Given the description of an element on the screen output the (x, y) to click on. 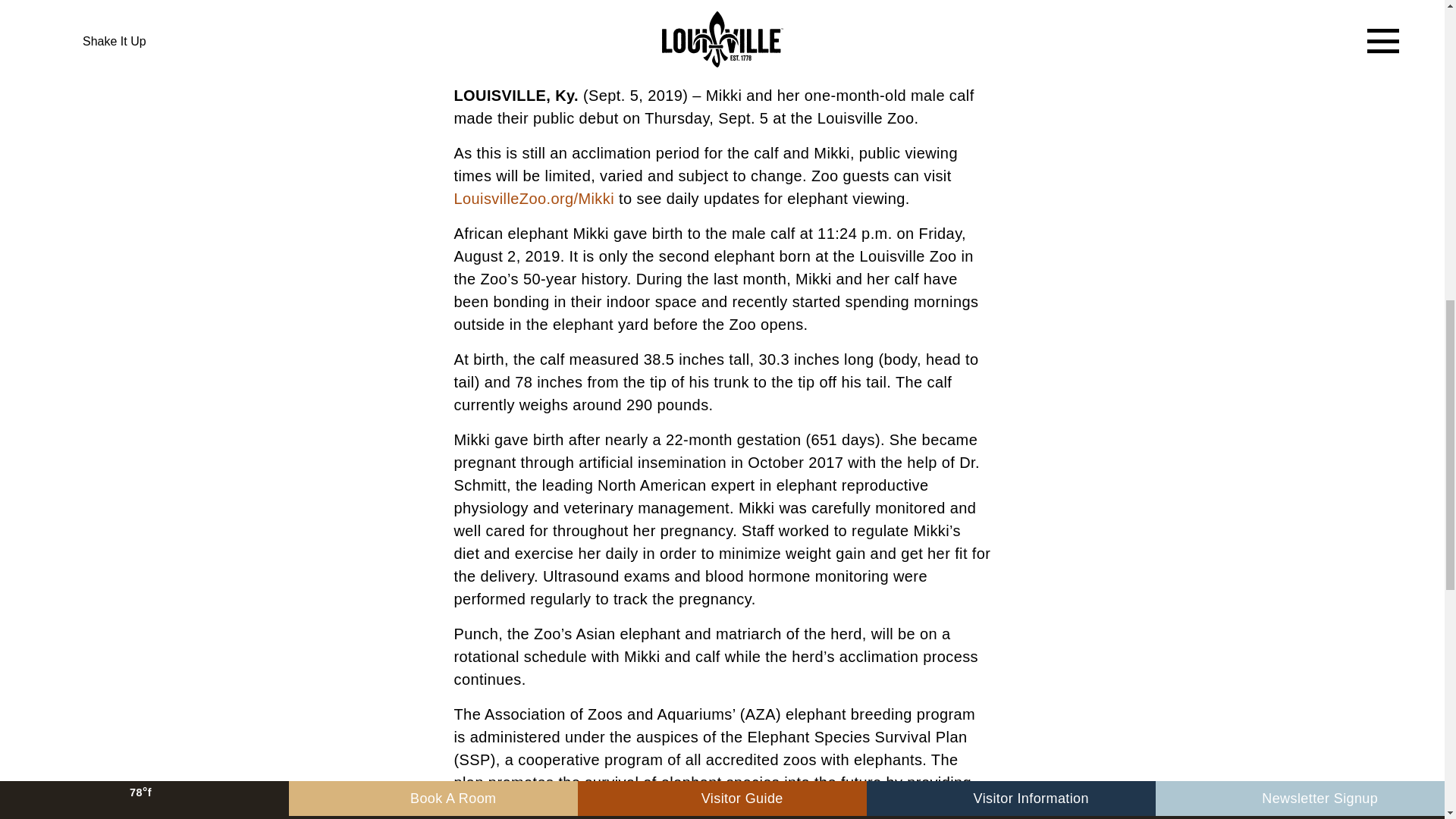
Louisville Zoo Elephant Mikki and Calf Make Public Debut (721, 30)
